Given the description of an element on the screen output the (x, y) to click on. 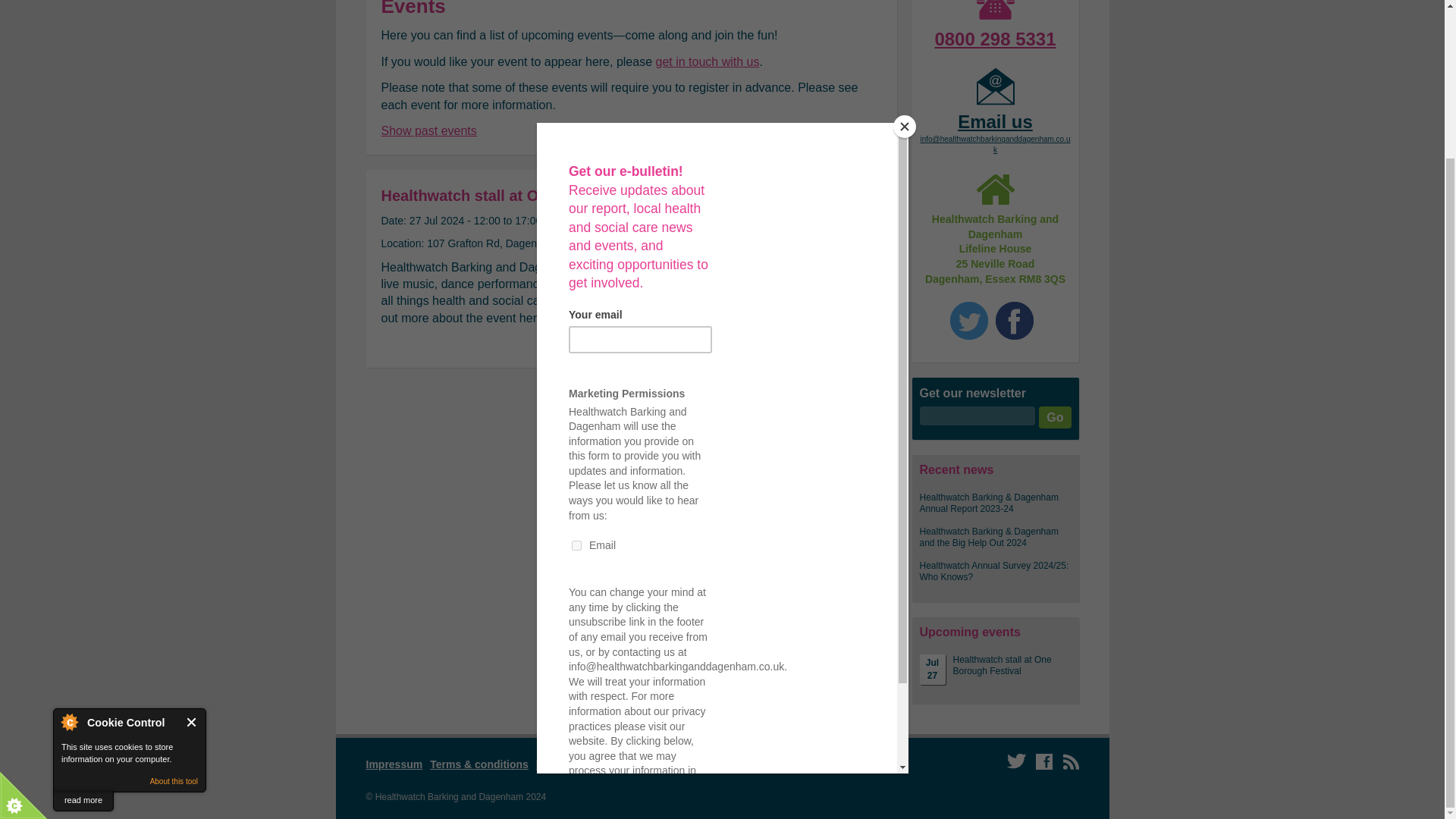
About Cookie Control (68, 536)
About this tool (173, 596)
Go (1054, 417)
read more (82, 616)
Close (191, 537)
About Cookie Control (68, 536)
